Given the description of an element on the screen output the (x, y) to click on. 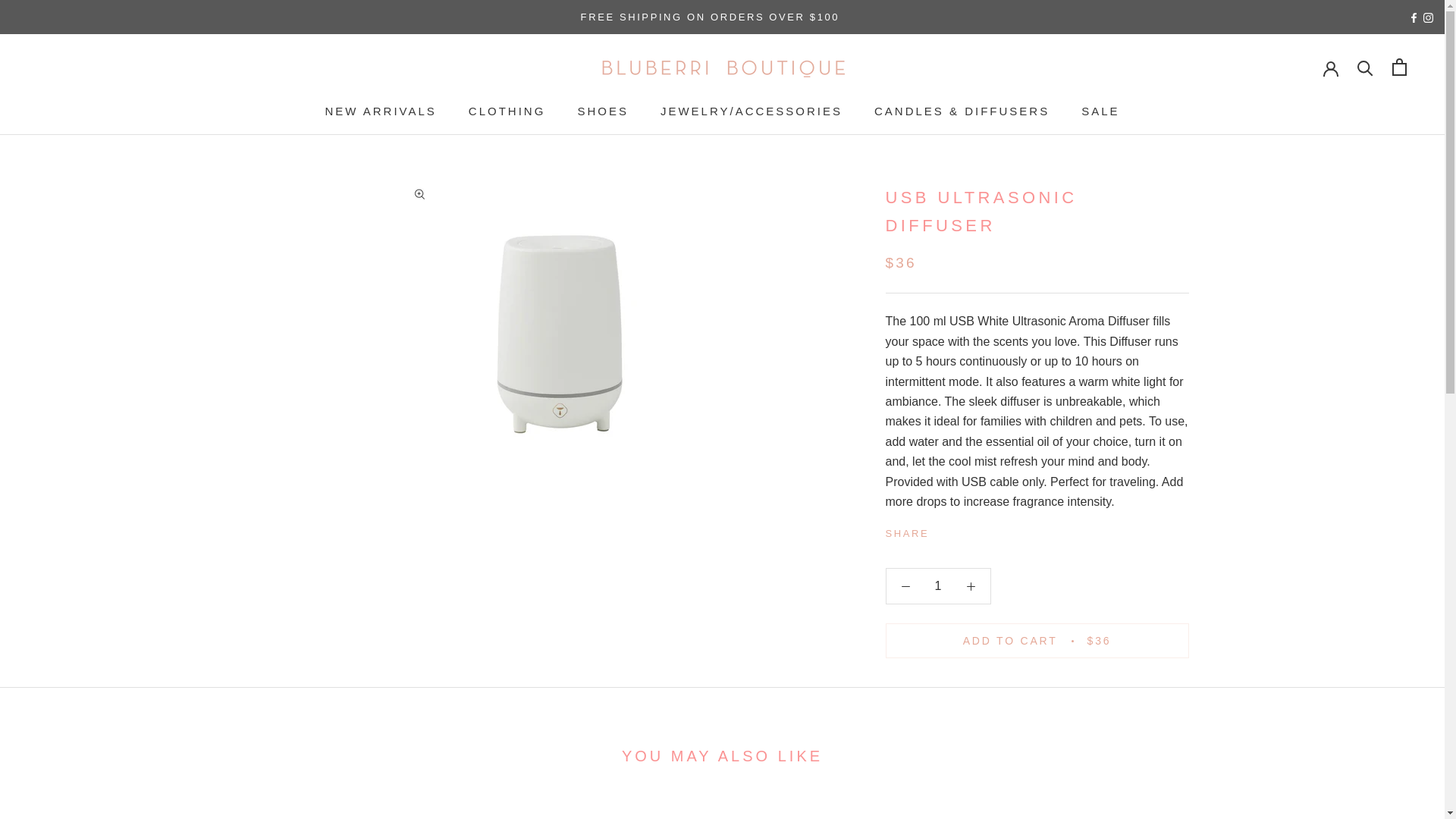
1 (379, 110)
CLOTHING (938, 585)
